Given the description of an element on the screen output the (x, y) to click on. 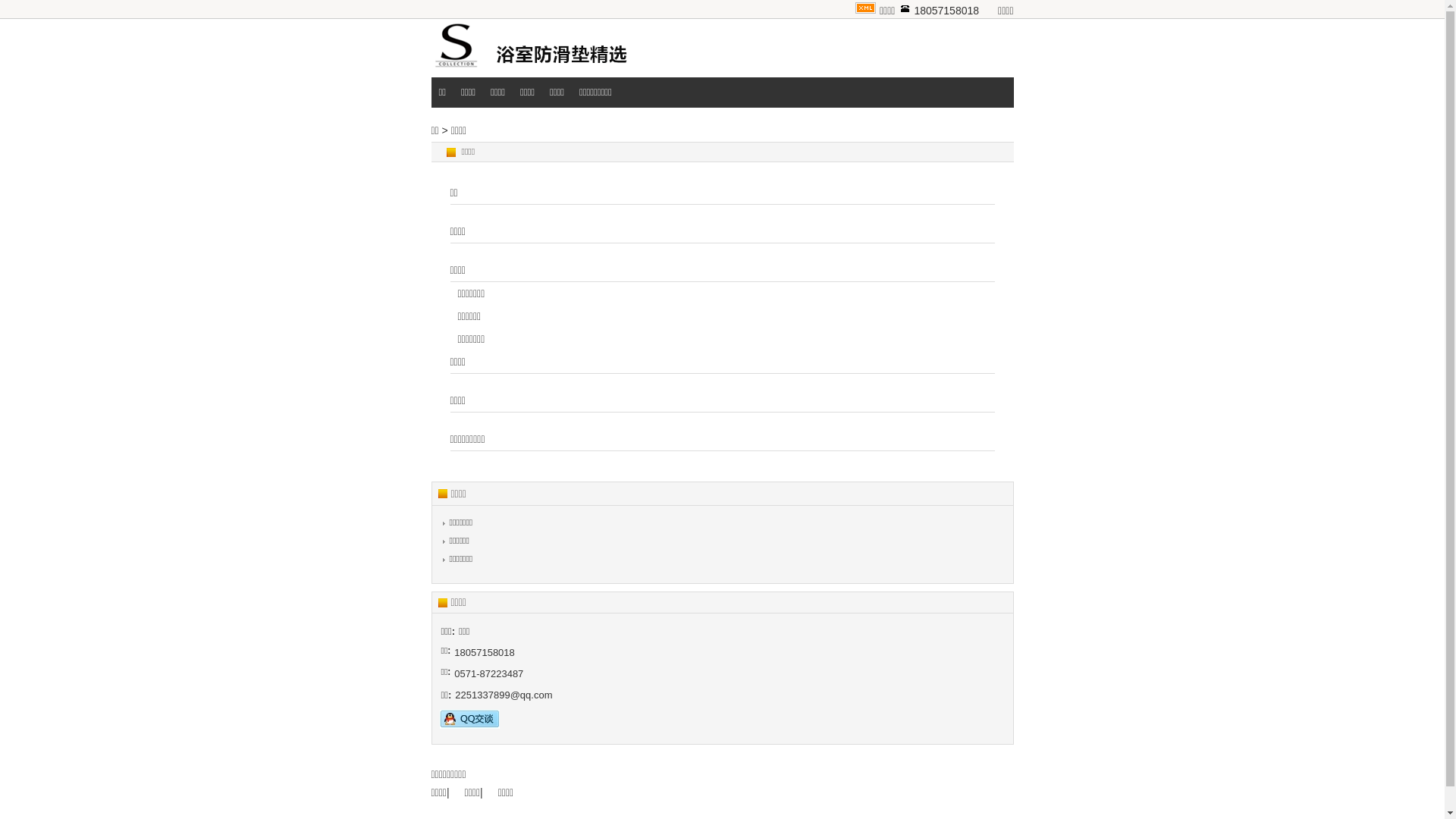
18057158018 Element type: text (946, 10)
2251337899@qq.com Element type: text (503, 694)
